Given the description of an element on the screen output the (x, y) to click on. 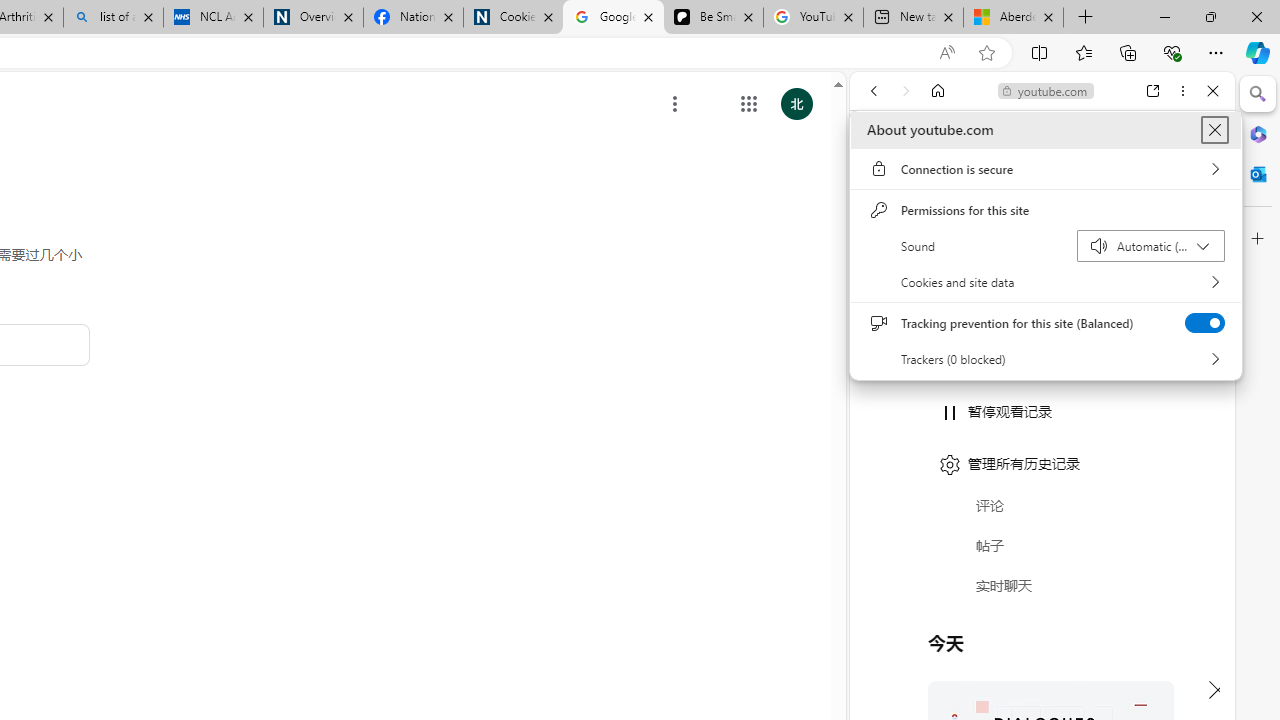
Sound Automatic (default) (1150, 245)
list of asthma inhalers uk - Search (113, 17)
#you (1042, 445)
Tracking prevention for this site (Balanced) (1204, 322)
